Given the description of an element on the screen output the (x, y) to click on. 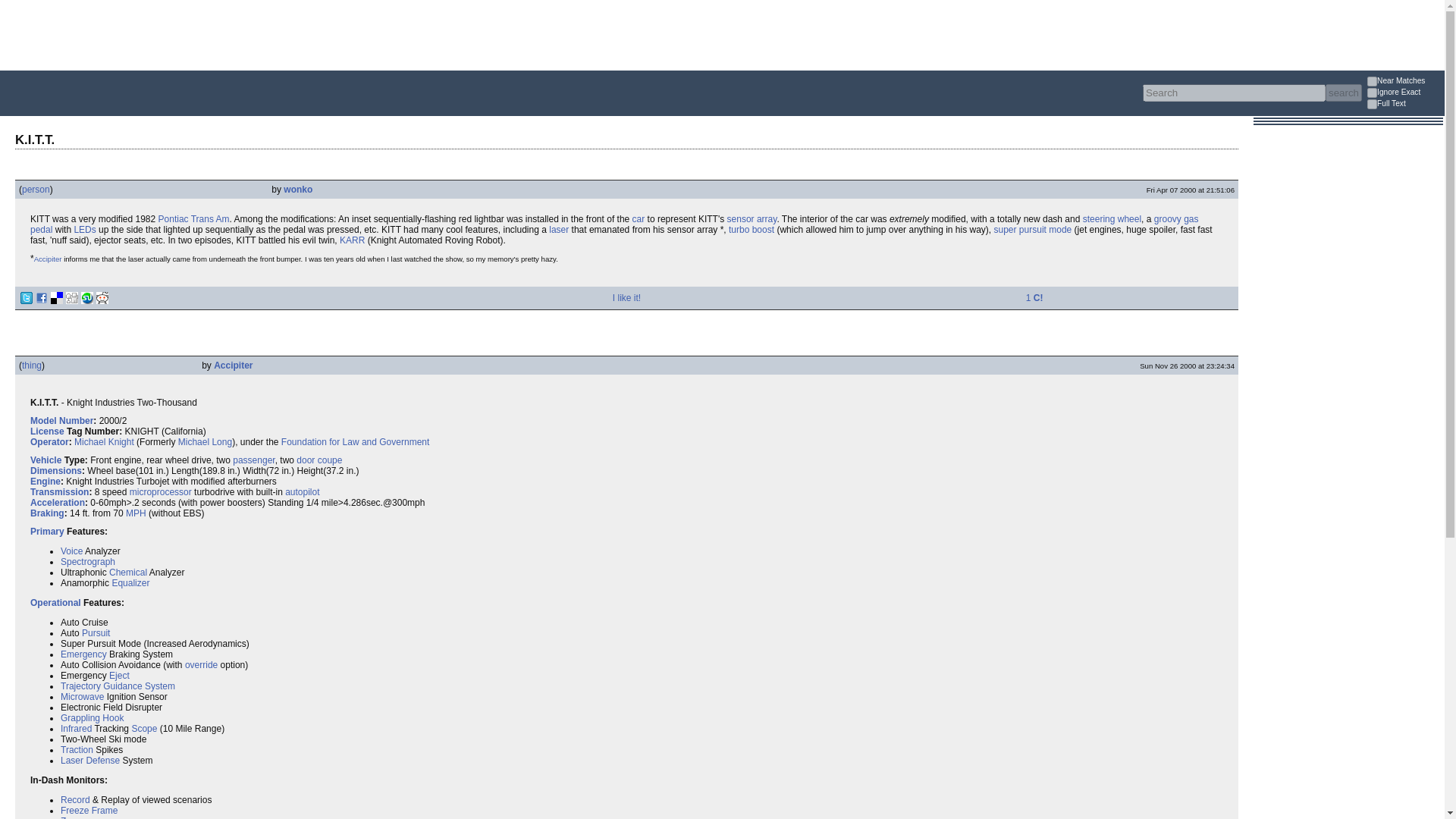
KARR (352, 240)
super pursuit mode (1032, 229)
1 (1372, 103)
LEDs (85, 229)
wonko (298, 189)
Accipiter (232, 365)
car (638, 218)
I like it! (626, 297)
gas pedal (614, 224)
Pontiac (173, 218)
laser (558, 229)
Foundation for Law and Government (355, 441)
steering wheel (1112, 218)
Everything (242, 117)
coupe (329, 460)
